Given the description of an element on the screen output the (x, y) to click on. 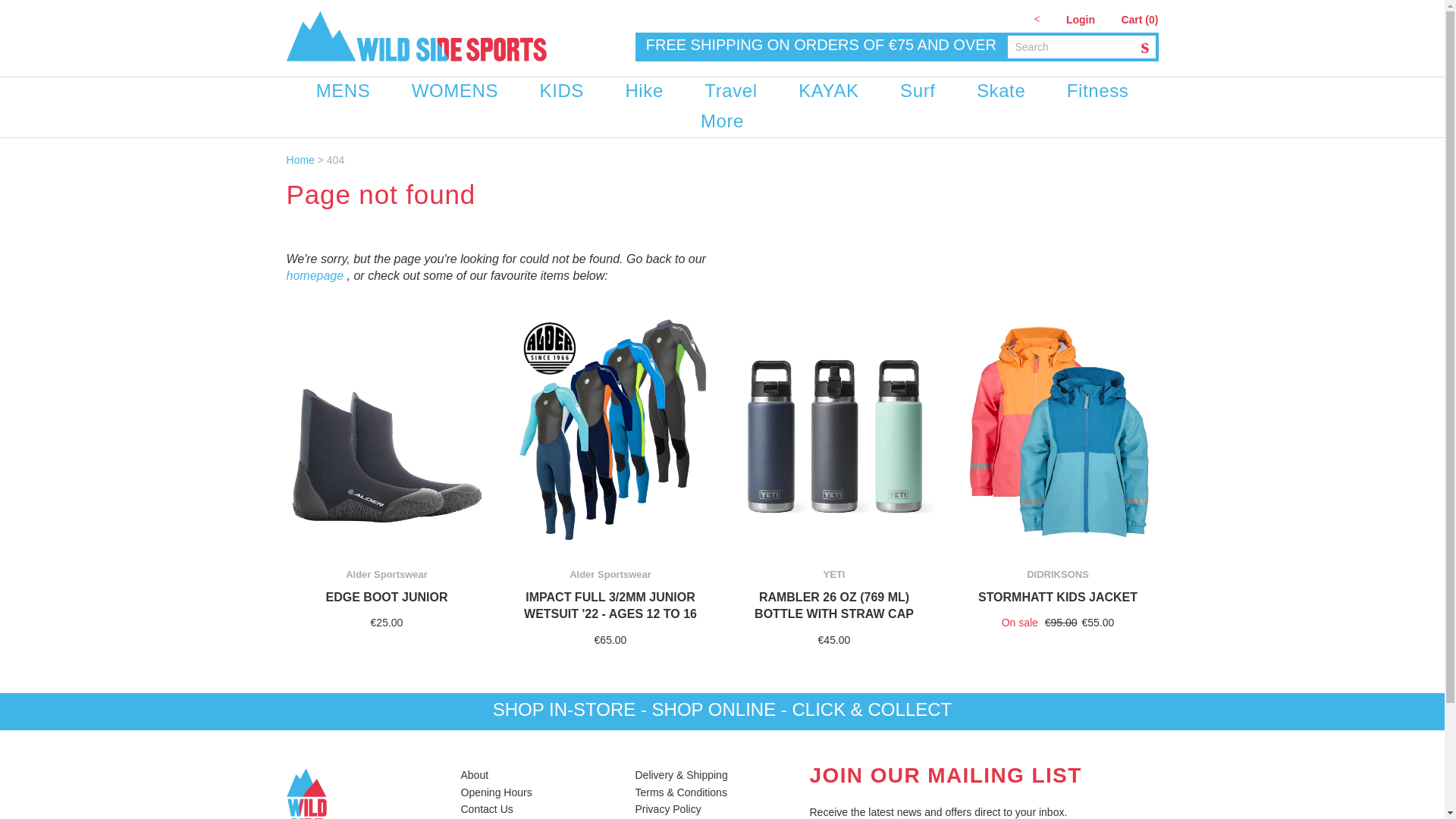
Alder Sportswear (609, 573)
Alder Sportswear (387, 573)
MENS (343, 91)
Login (1079, 20)
YETI (834, 573)
DIDRIKSONS (1057, 573)
